Given the description of an element on the screen output the (x, y) to click on. 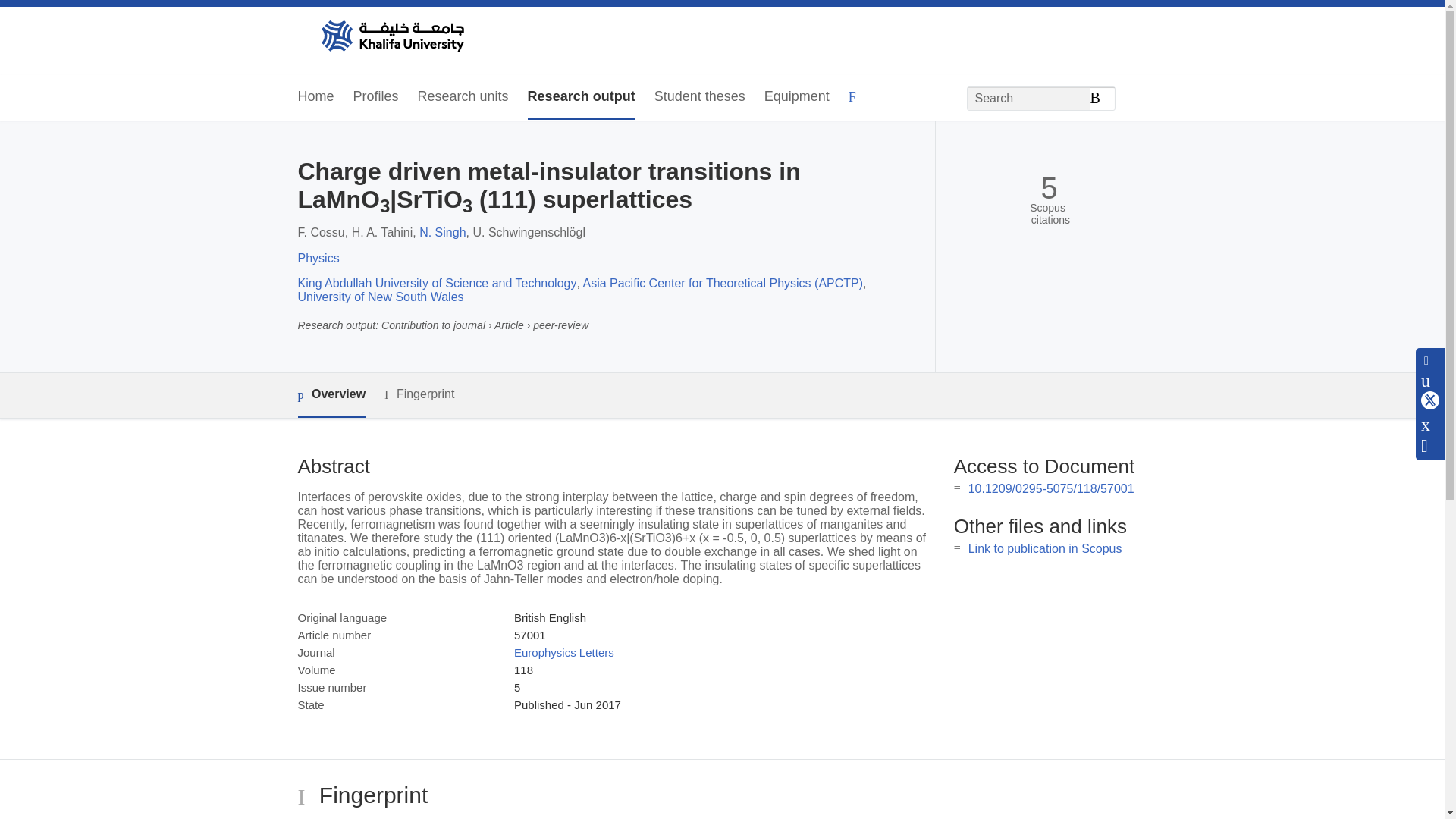
Equipment (796, 97)
King Abdullah University of Science and Technology (436, 282)
Europhysics Letters (563, 652)
University of New South Wales (380, 296)
Physics (318, 257)
Research output (580, 97)
Student theses (699, 97)
Khalifa University Home (391, 37)
Overview (331, 395)
Fingerprint (419, 394)
Research units (462, 97)
N. Singh (442, 232)
Profiles (375, 97)
Link to publication in Scopus (1045, 548)
